Given the description of an element on the screen output the (x, y) to click on. 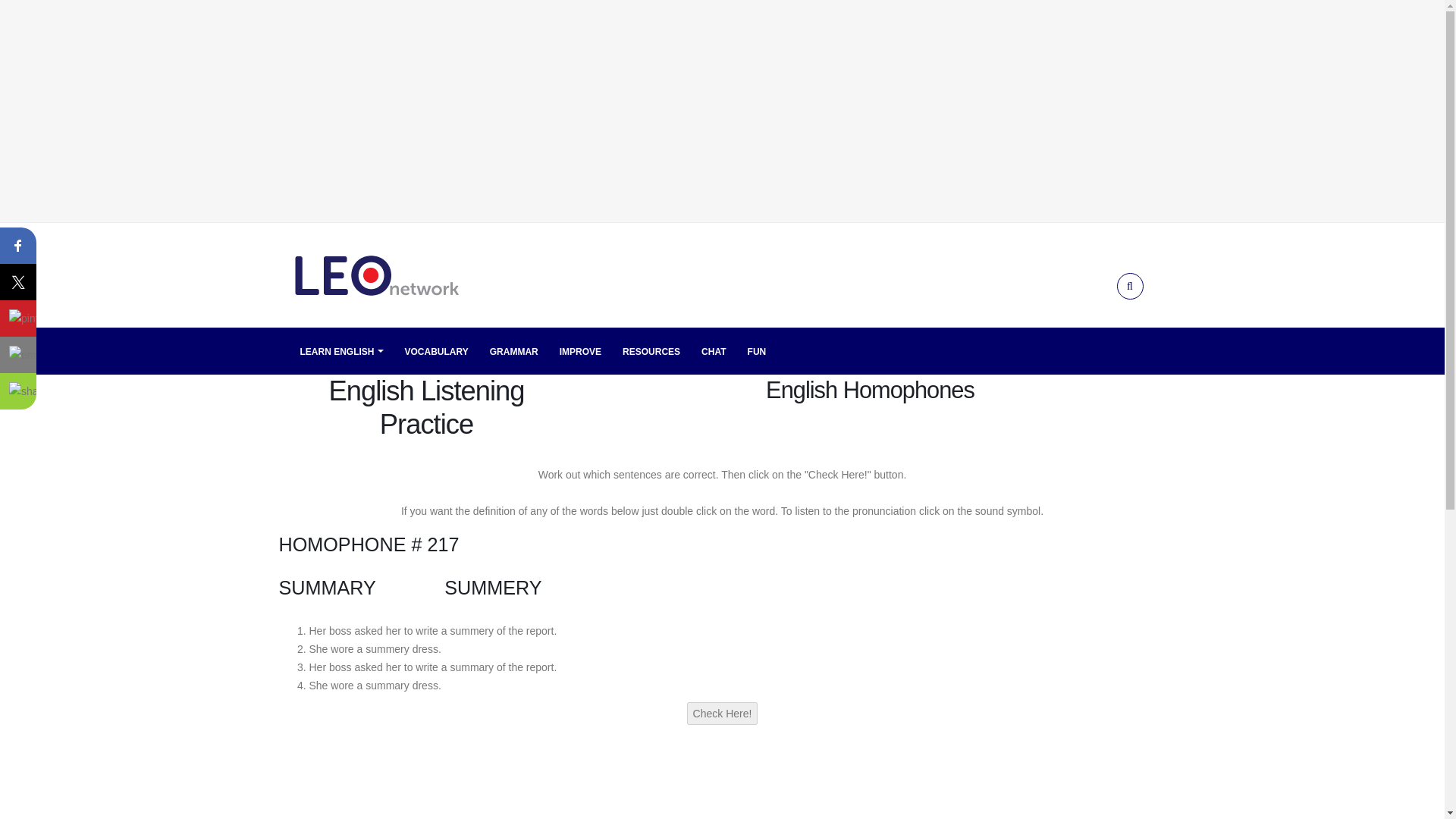
Learn English vocabulary (436, 351)
GRAMMAR (514, 351)
RESOURCES (651, 351)
VOCABULARY (436, 351)
IMPROVE (580, 351)
Learn English grammar (514, 351)
Advertisement (721, 796)
English Resources (651, 351)
FUN (757, 351)
